Given the description of an element on the screen output the (x, y) to click on. 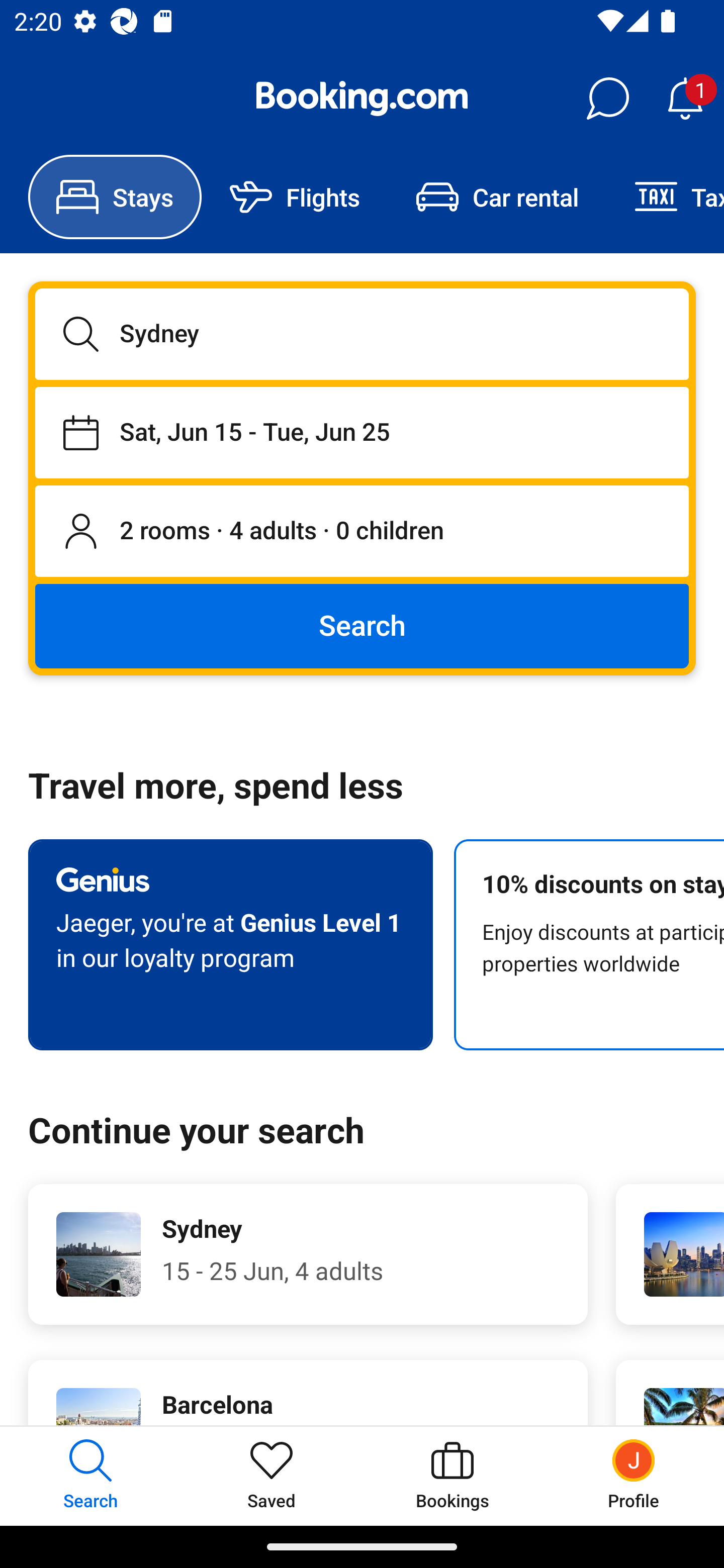
Messages (607, 98)
Notifications (685, 98)
Stays (114, 197)
Flights (294, 197)
Car rental (497, 197)
Taxi (665, 197)
Sydney (361, 333)
Staying from Sat, Jun 15 until Tue, Jun 25 (361, 432)
2 rooms, 4 adults, 0 children (361, 531)
Search (361, 625)
Sydney 15 - 25 Jun, 4 adults (307, 1253)
Saved (271, 1475)
Bookings (452, 1475)
Profile (633, 1475)
